Given the description of an element on the screen output the (x, y) to click on. 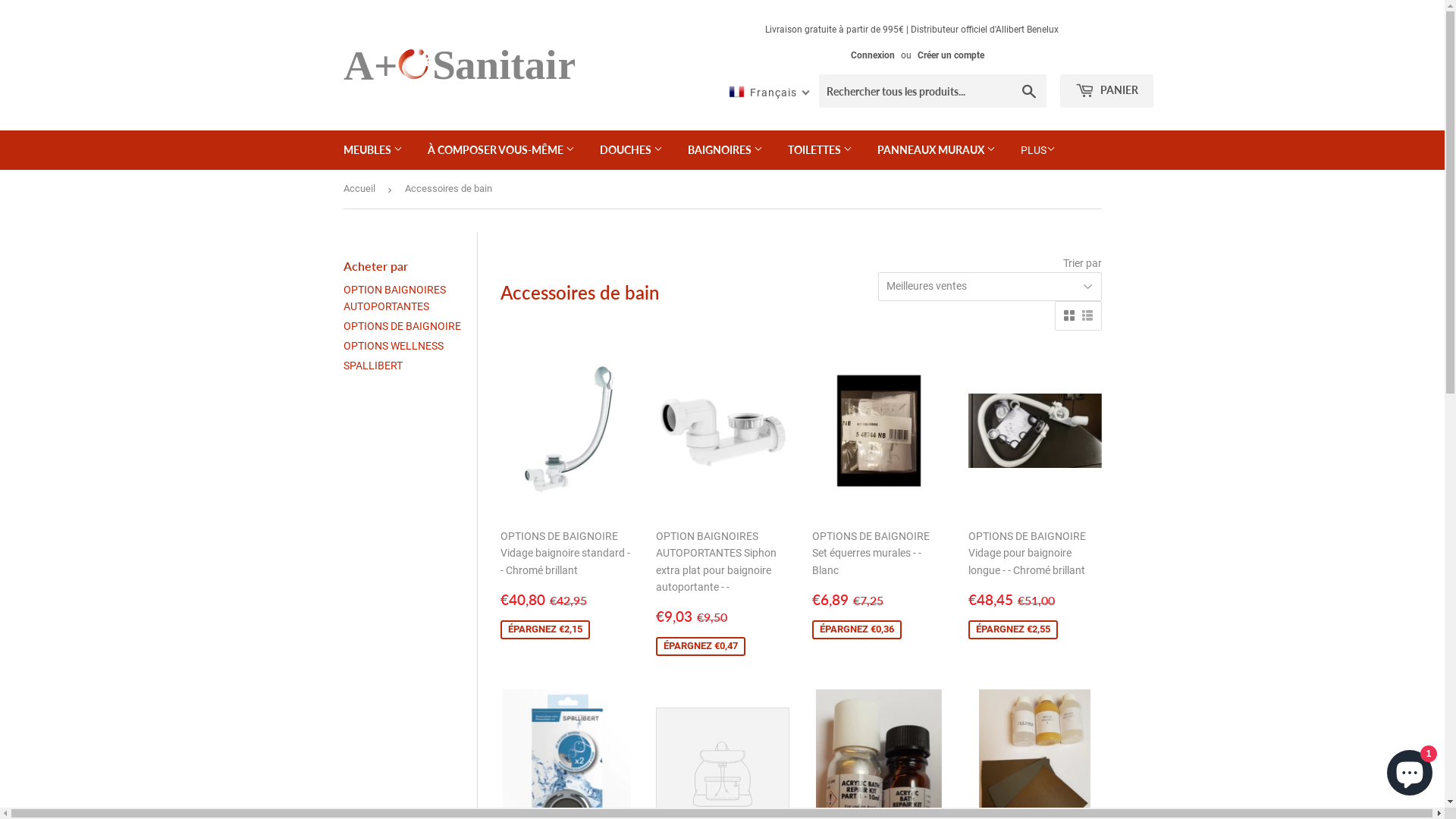
Grid view Element type: hover (1068, 315)
PLUS Element type: text (1037, 149)
Accueil Element type: text (360, 188)
Chercher Element type: text (1029, 91)
SPALLIBERT Element type: text (371, 365)
Connexion Element type: text (872, 55)
TOILETTES Element type: text (819, 149)
PANIER Element type: text (1106, 90)
Chat de la boutique en ligne Shopify Element type: hover (1409, 769)
OPTIONS DE BAIGNOIRE Element type: text (401, 326)
MEUBLES Element type: text (373, 149)
List view Element type: hover (1086, 315)
DOUCHES Element type: text (631, 149)
OPTION BAIGNOIRES AUTOPORTANTES Element type: text (393, 297)
OPTIONS WELLNESS Element type: text (392, 345)
BAIGNOIRES Element type: text (725, 149)
PANNEAUX MURAUX Element type: text (936, 149)
